Given the description of an element on the screen output the (x, y) to click on. 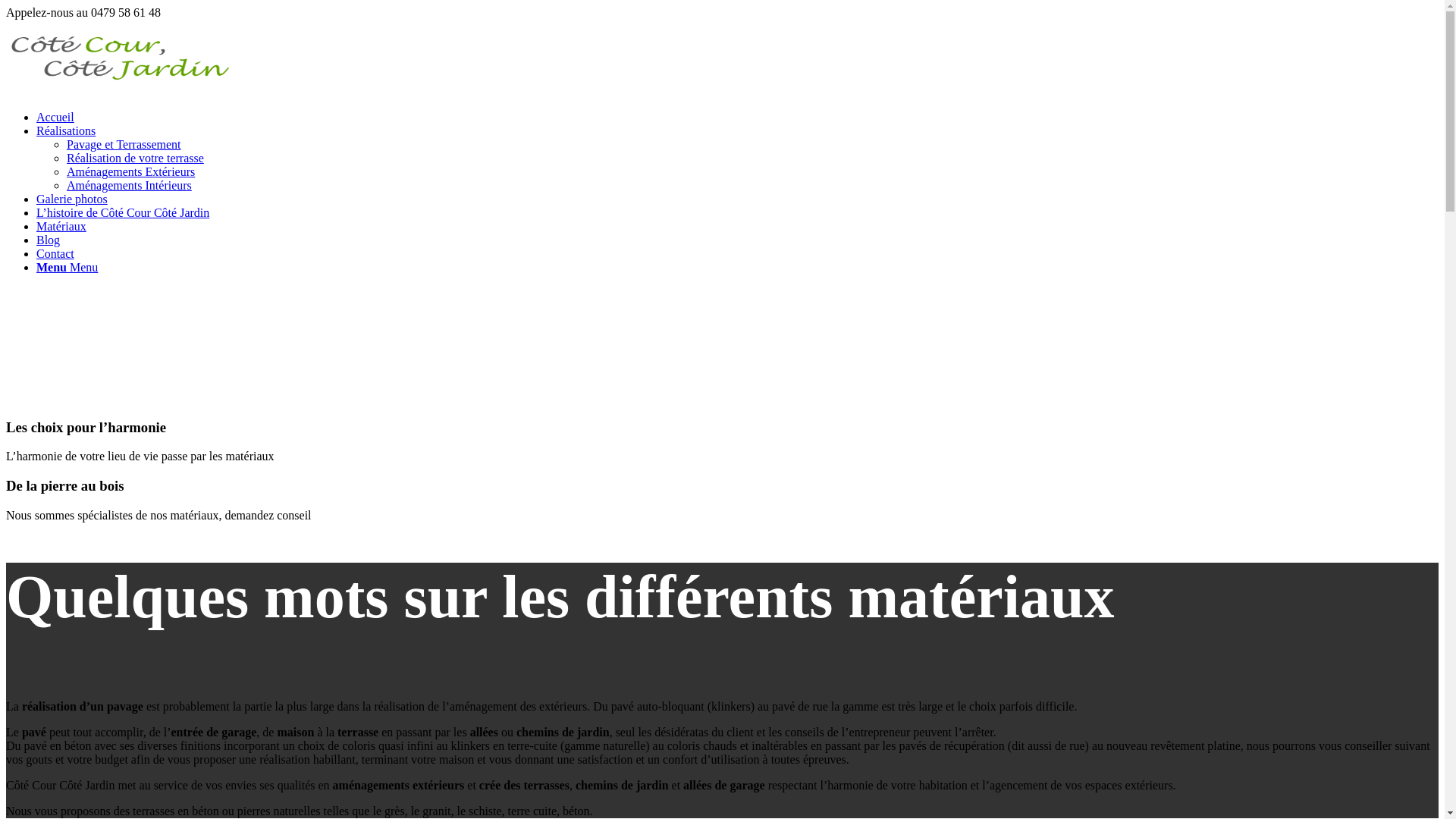
Accueil Element type: text (55, 116)
Contact Element type: text (55, 253)
Pavage et Terrassement Element type: text (123, 144)
Blog Element type: text (47, 239)
Menu Menu Element type: text (66, 266)
Galerie photos Element type: text (71, 198)
